Given the description of an element on the screen output the (x, y) to click on. 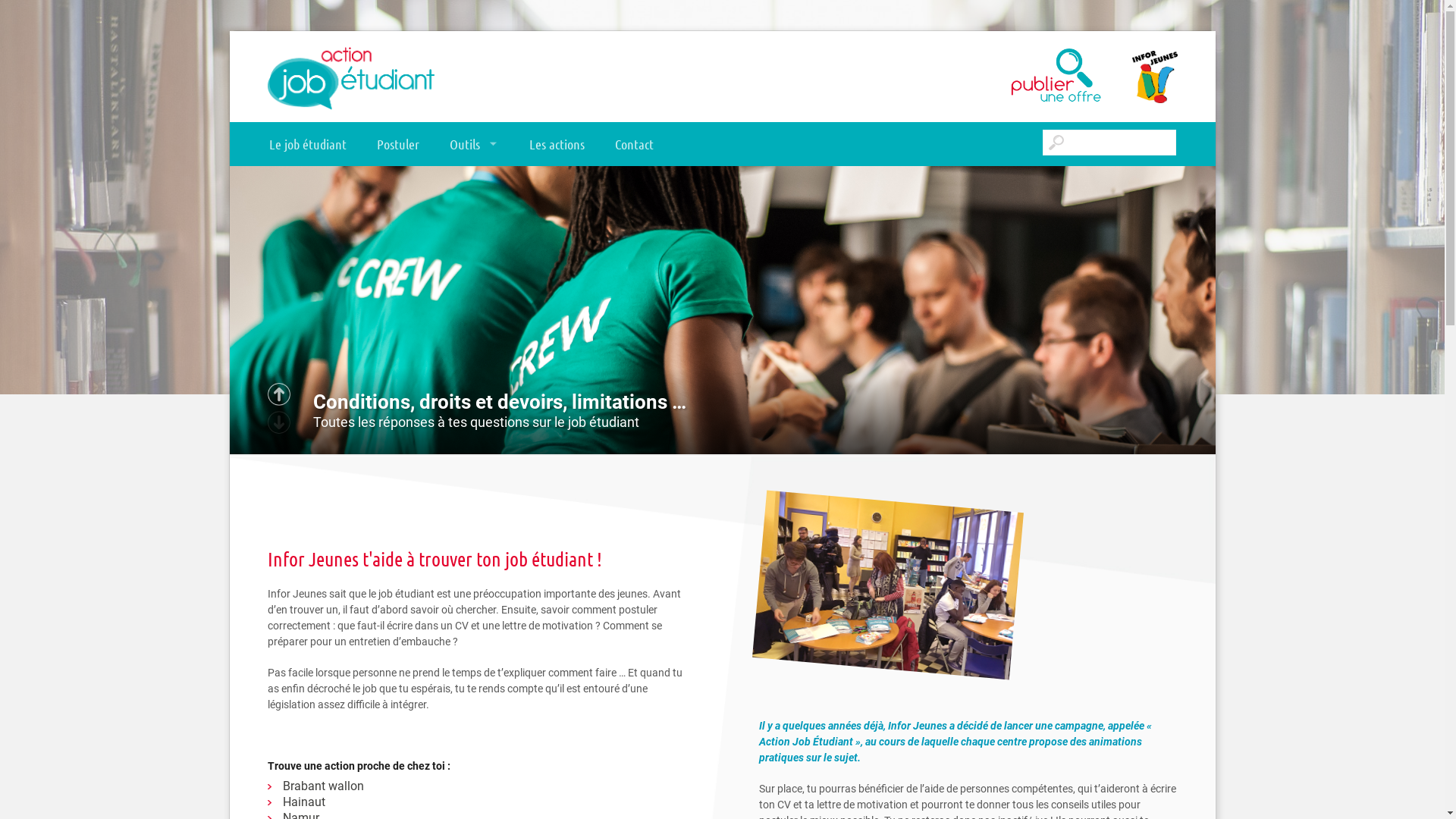
Suivant Element type: text (277, 394)
Les actions Element type: text (556, 144)
Contact Element type: text (633, 144)
Action Job Etudiant Element type: text (349, 76)
Recherche Element type: text (22, 13)
slide1 Element type: text (721, 310)
Postuler Element type: text (397, 144)
Infor Jeunes Element type: text (1138, 76)
slide2 Element type: text (721, 591)
Publier une offre Element type: text (1017, 76)
Hainaut Element type: text (319, 801)
Outils Element type: text (473, 144)
Brabant wallon Element type: text (319, 785)
